Given the description of an element on the screen output the (x, y) to click on. 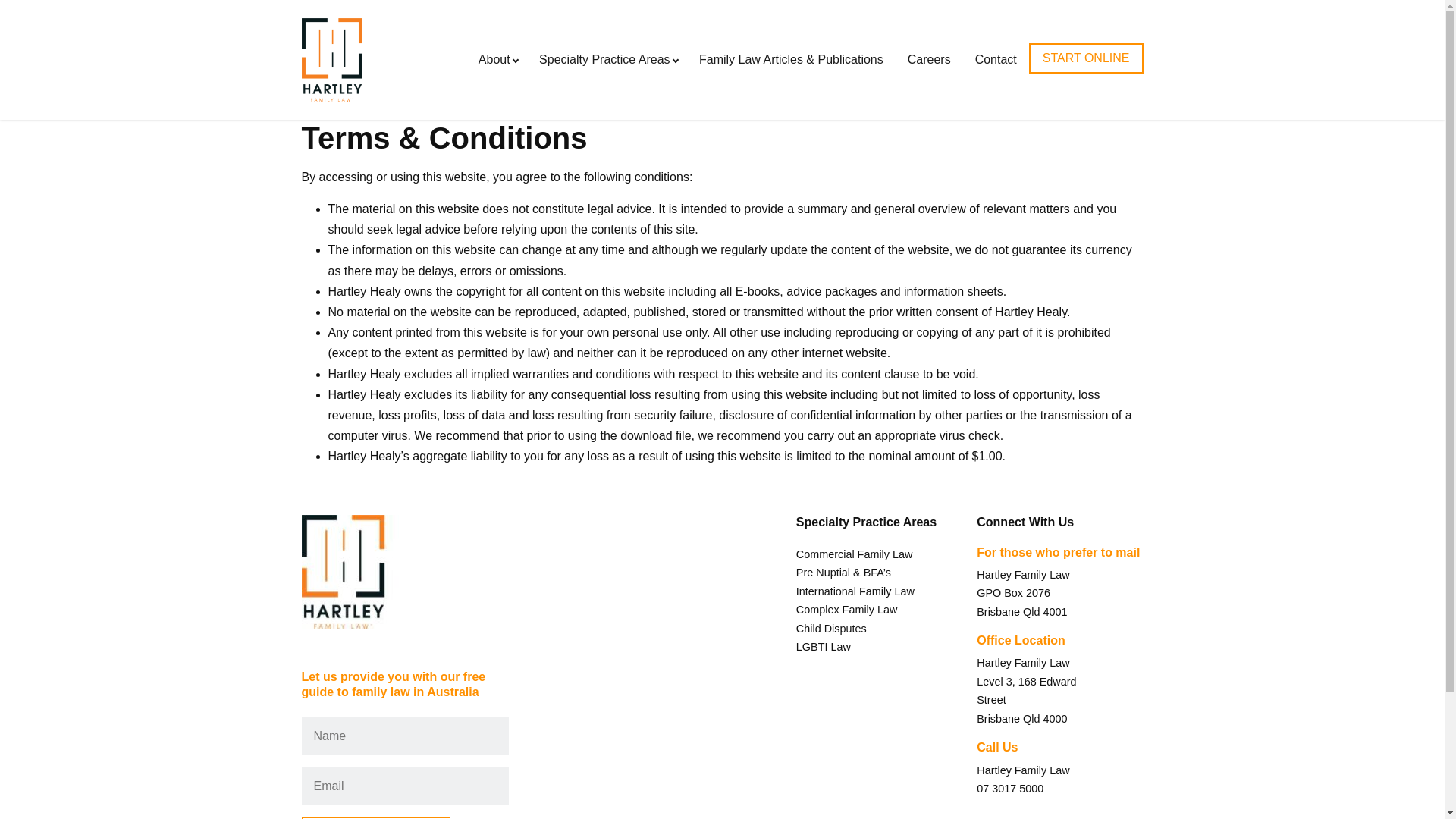
Contact Element type: text (996, 59)
START ONLINE Element type: text (1086, 58)
International Family Law Element type: text (855, 591)
Level 3, 168 Edward
Street
Brisbane Qld 4000 Element type: text (1026, 699)
About Element type: text (496, 59)
Commercial Family Law Element type: text (854, 554)
Careers Element type: text (929, 59)
Family Law Articles & Publications Element type: text (791, 59)
07 3017 5000 Element type: text (1009, 788)
Specialty Practice Areas Element type: text (607, 59)
Complex Family Law Element type: text (846, 609)
GPO Box 2076
Brisbane Qld 4001 Element type: text (1021, 601)
LGBTI Law Element type: text (823, 646)
Child Disputes Element type: text (831, 628)
